Given the description of an element on the screen output the (x, y) to click on. 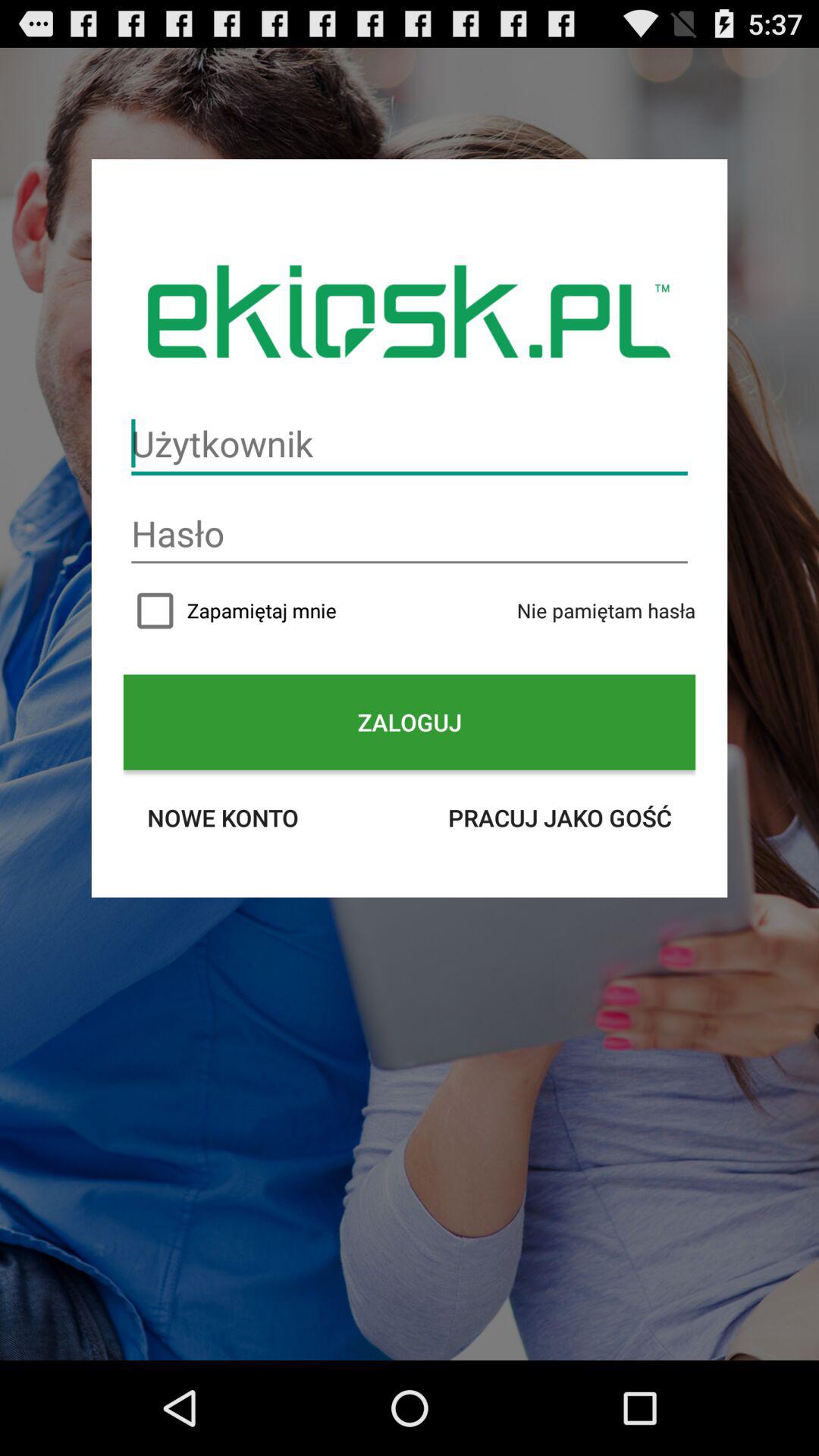
open the item above nowe konto (409, 722)
